Given the description of an element on the screen output the (x, y) to click on. 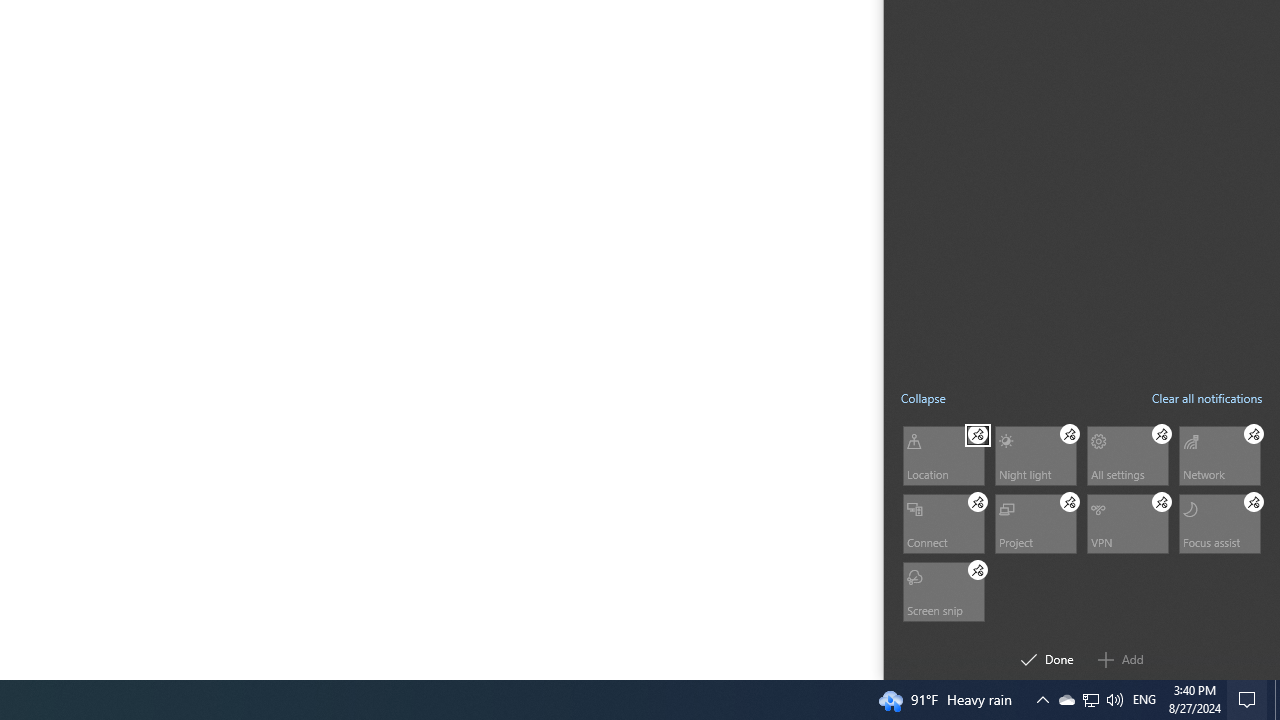
Clear all notifications (1206, 398)
Add quick actions (1120, 659)
Screen snip (942, 590)
Focus assist Unpin (1254, 501)
Done editing quick actions (1047, 659)
Network Unpin (1254, 434)
Location Unpin (977, 434)
Action Center, No new notifications (1250, 699)
All settings (1126, 454)
Focus assist (1218, 522)
Project (1034, 522)
Connect (942, 522)
Screen snip Unpin (977, 570)
